Given the description of an element on the screen output the (x, y) to click on. 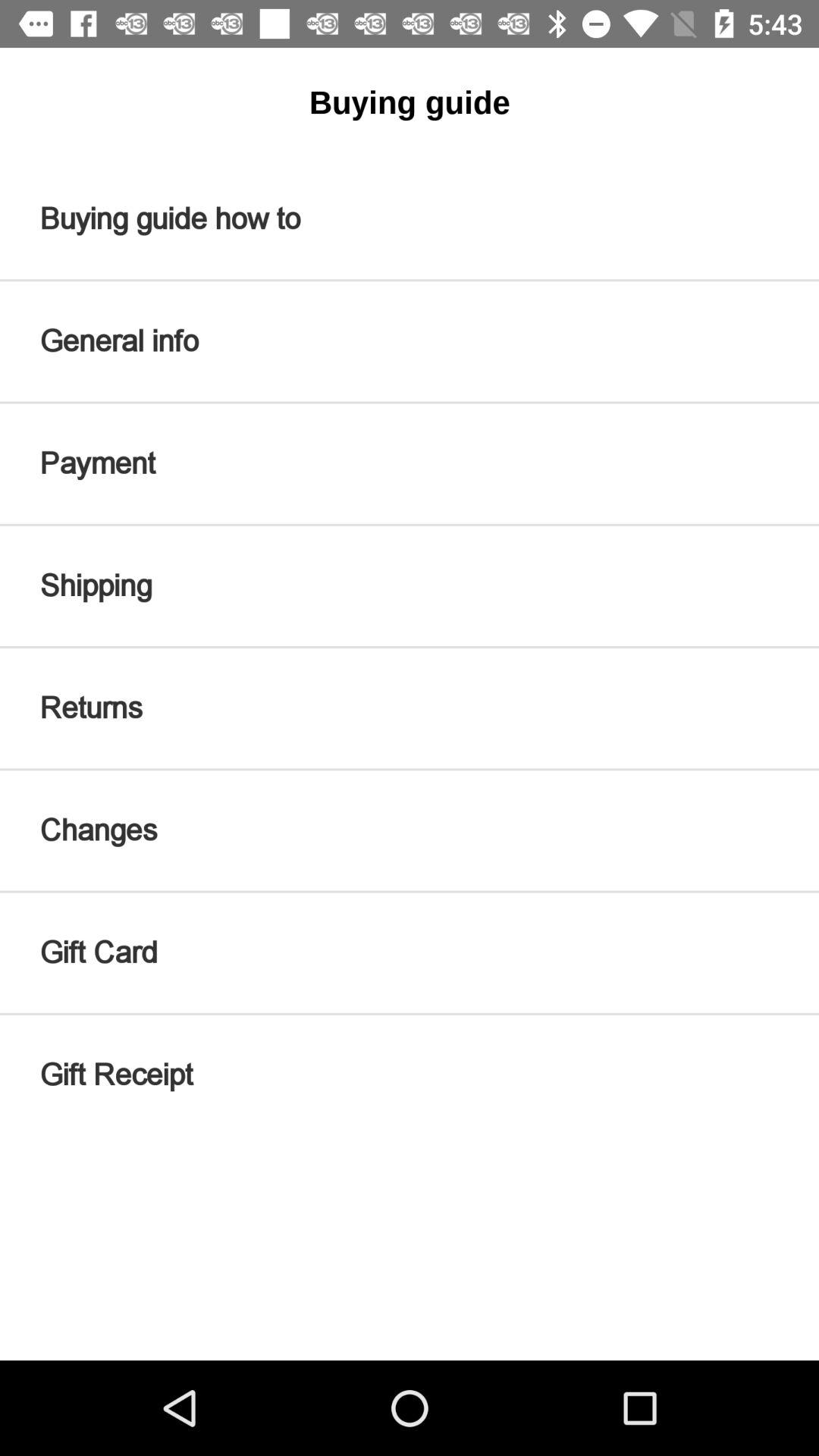
turn off the item above gift receipt icon (409, 952)
